Given the description of an element on the screen output the (x, y) to click on. 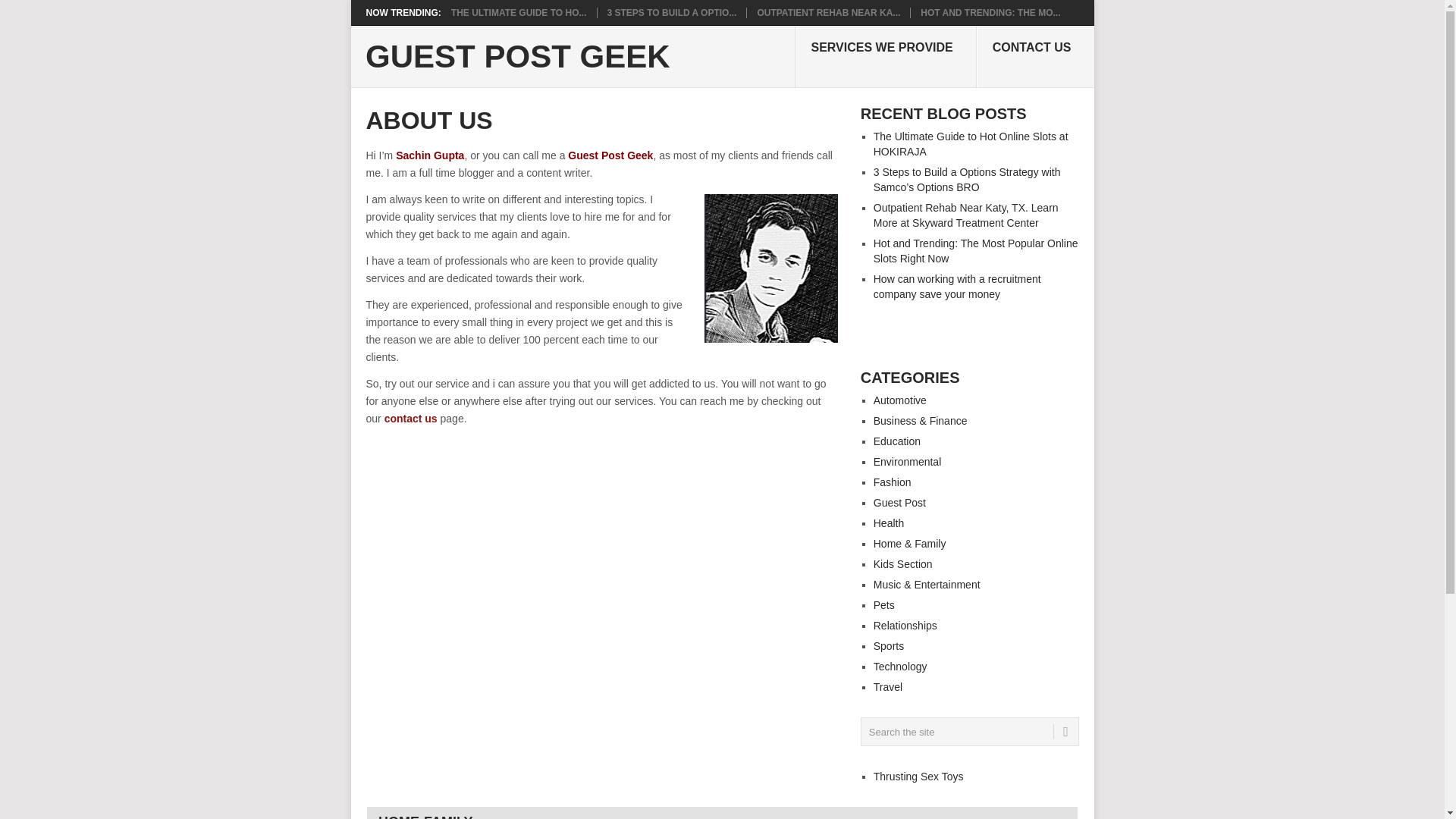
Fashion (892, 481)
The Ultimate Guide to Hot Online Slots at HOKIRAJA (970, 144)
Thrusting Sex Toys (918, 776)
SERVICES WE PROVIDE (884, 56)
Hot and Trending: The Most Popular Online Slots Right Now (989, 12)
Pets (884, 604)
Search the site (969, 731)
Automotive (899, 399)
Environmental (907, 461)
GUEST POST GEEK (517, 56)
Travel (887, 686)
Education (896, 440)
THE ULTIMATE GUIDE TO HO... (518, 12)
